Given the description of an element on the screen output the (x, y) to click on. 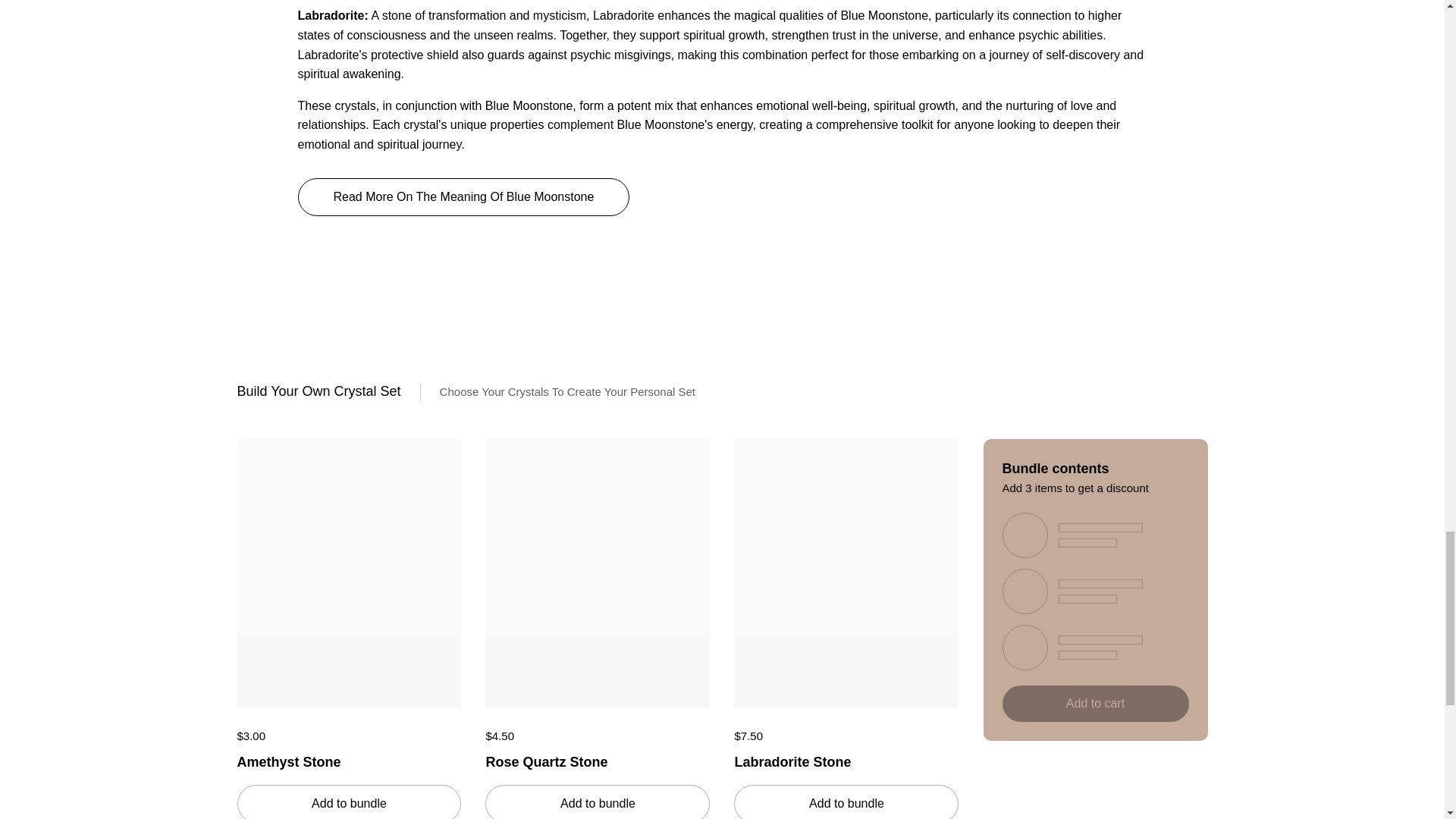
Labradorite Stone (845, 758)
Amethyst Stone (348, 758)
Rose Quartz Stone (597, 758)
